Given the description of an element on the screen output the (x, y) to click on. 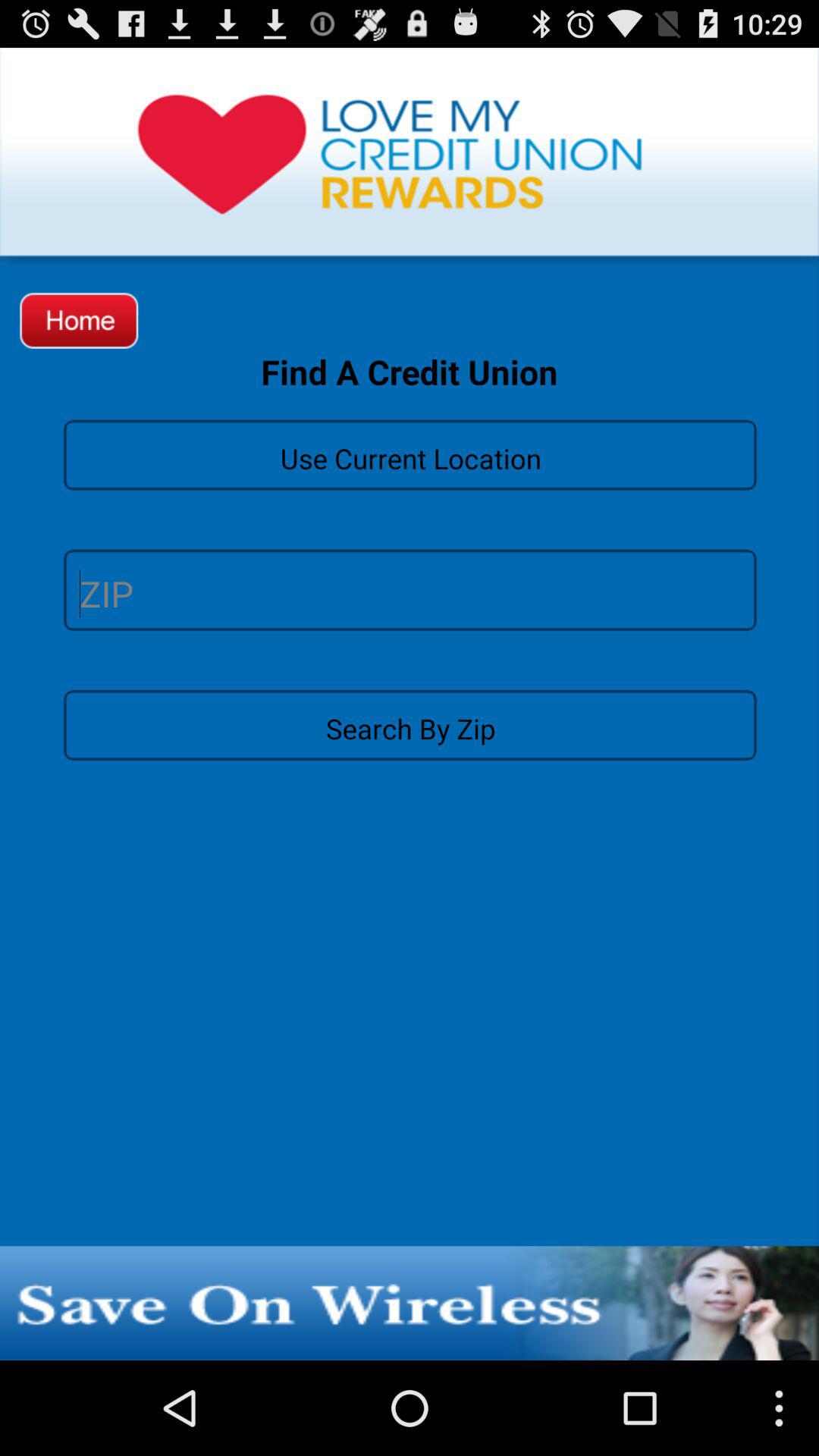
choose use current location button (409, 454)
